Given the description of an element on the screen output the (x, y) to click on. 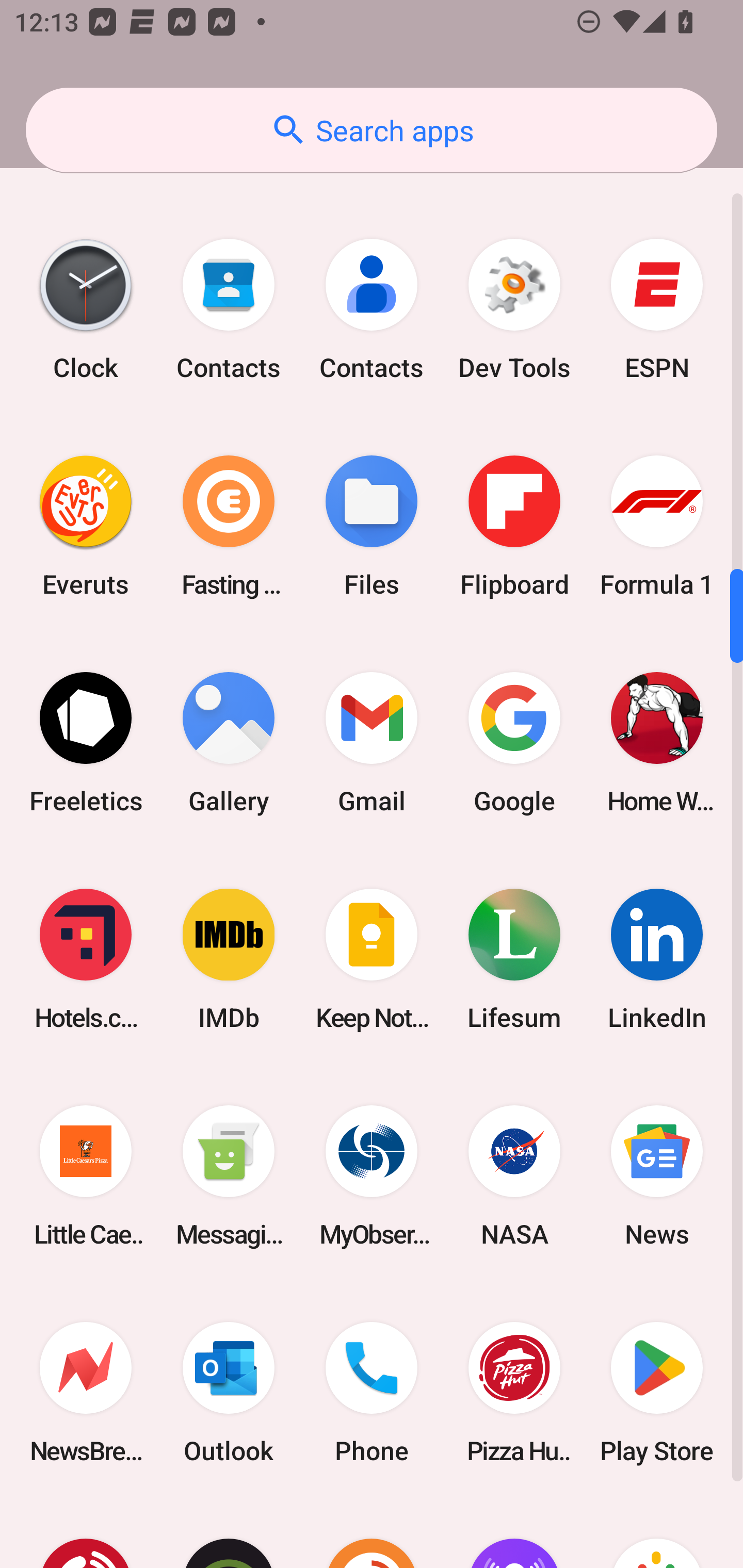
  Search apps (371, 130)
Clock (85, 308)
Contacts (228, 308)
Contacts (371, 308)
Dev Tools (514, 308)
ESPN (656, 308)
Everuts (85, 526)
Fasting Coach (228, 526)
Files (371, 526)
Flipboard (514, 526)
Formula 1 (656, 526)
Freeletics (85, 743)
Gallery (228, 743)
Gmail (371, 743)
Google (514, 743)
Home Workout (656, 743)
Hotels.com (85, 959)
IMDb (228, 959)
Keep Notes (371, 959)
Lifesum (514, 959)
LinkedIn (656, 959)
Little Caesars Pizza (85, 1175)
Messaging (228, 1175)
MyObservatory (371, 1175)
NASA (514, 1175)
News (656, 1175)
NewsBreak (85, 1392)
Outlook (228, 1392)
Phone (371, 1392)
Pizza Hut HK & Macau (514, 1392)
Play Store (656, 1392)
